Given the description of an element on the screen output the (x, y) to click on. 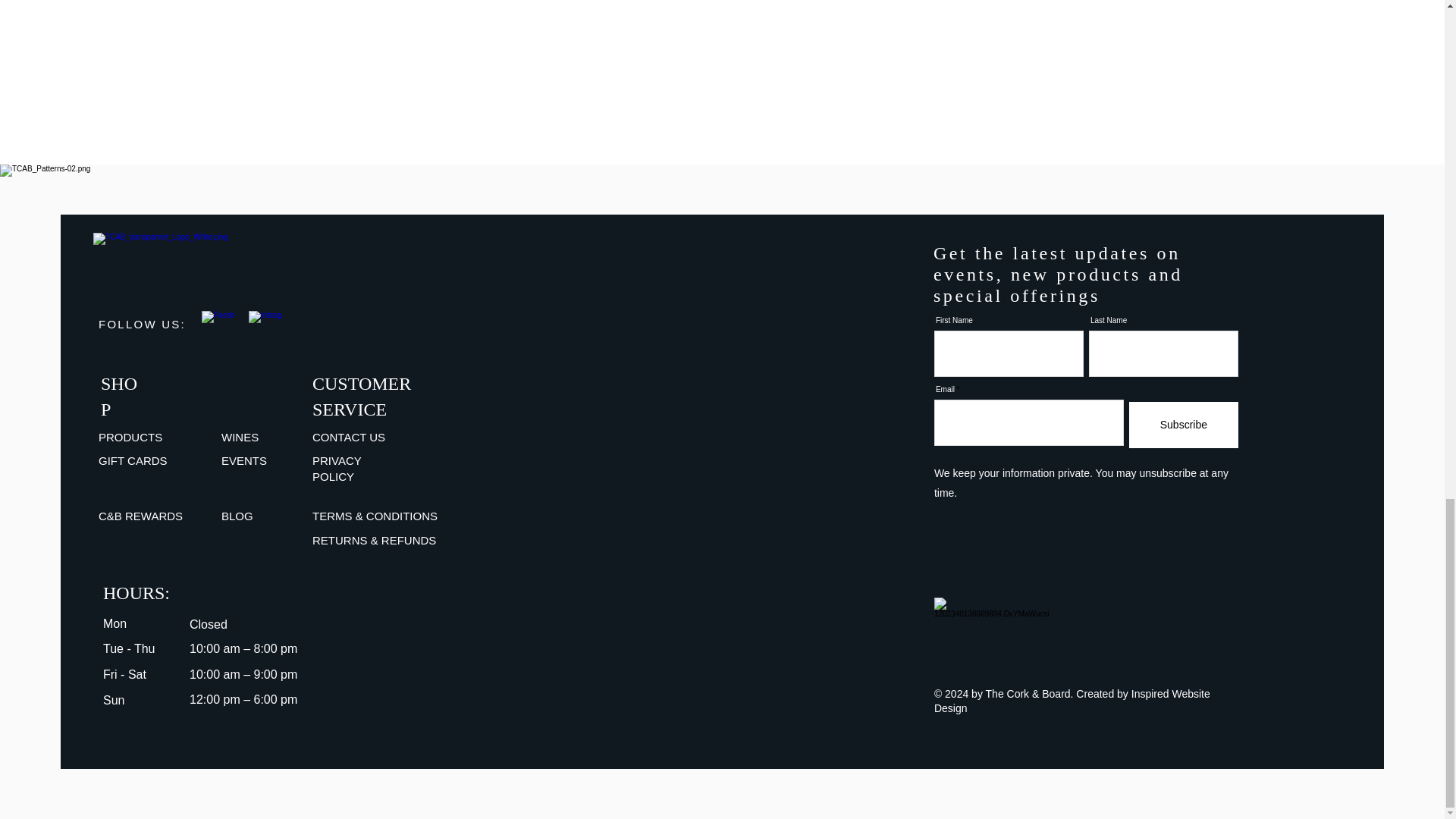
BLOG (237, 515)
Inspired Website Design (1071, 700)
PRODUCTS (130, 436)
GIFT CARDS (133, 460)
PRIVACY POLICY (337, 468)
EVENTS (243, 460)
Subscribe (1184, 424)
WINES (240, 436)
CONTACT US (349, 436)
